Given the description of an element on the screen output the (x, y) to click on. 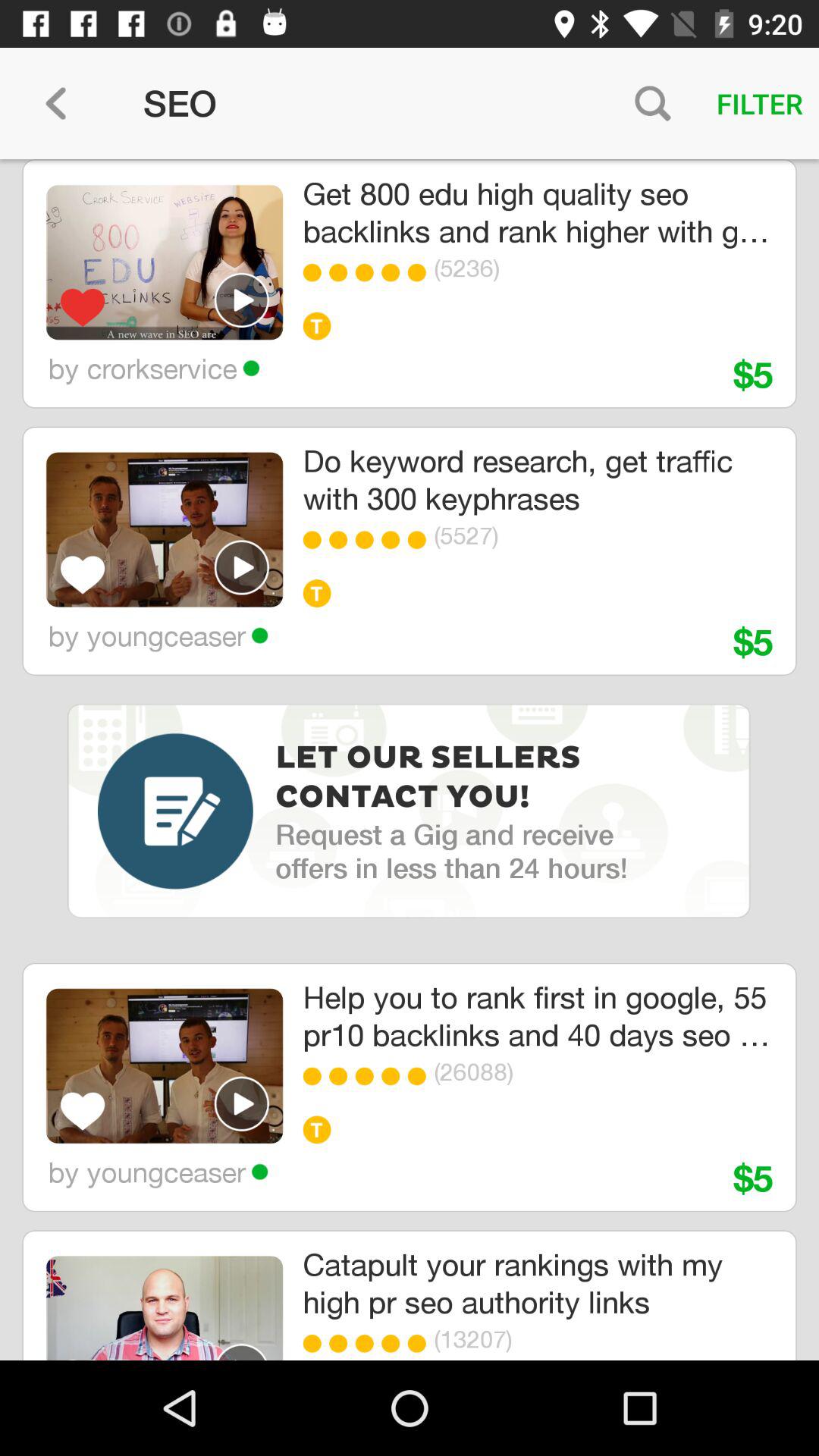
flip until the let our sellers (432, 777)
